Given the description of an element on the screen output the (x, y) to click on. 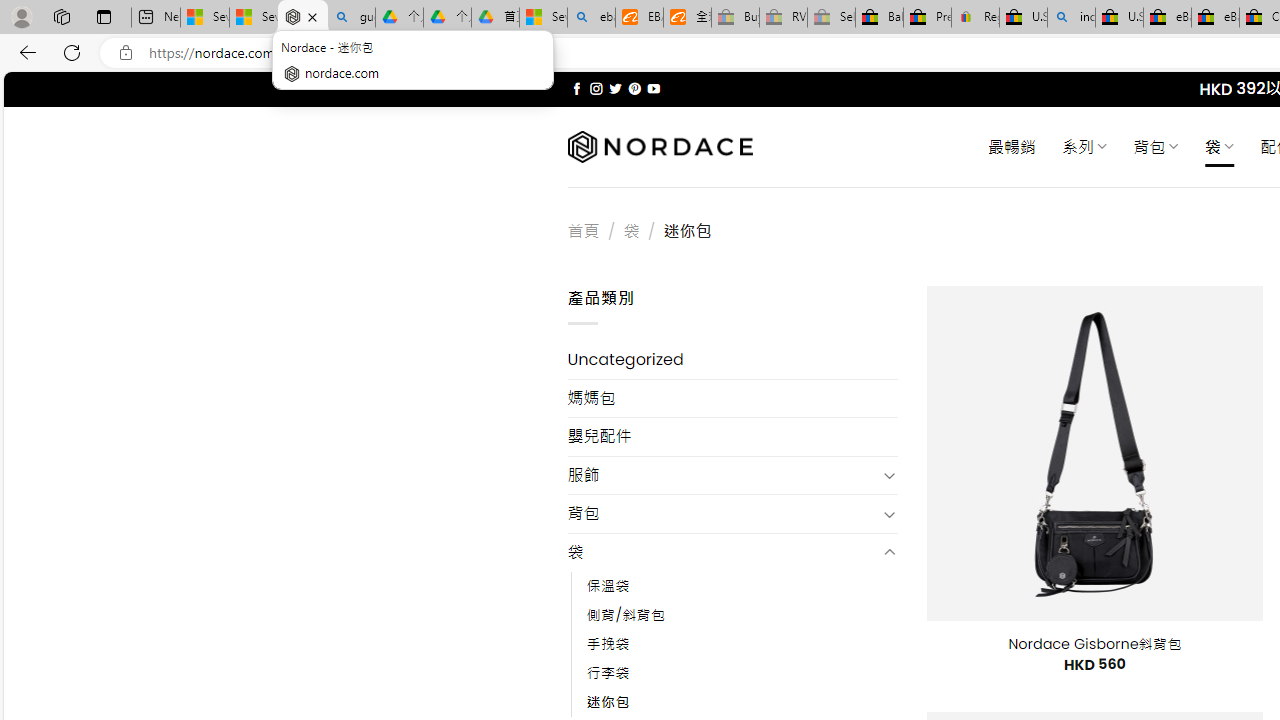
Follow on YouTube (653, 88)
including - Search (1071, 17)
